Given the description of an element on the screen output the (x, y) to click on. 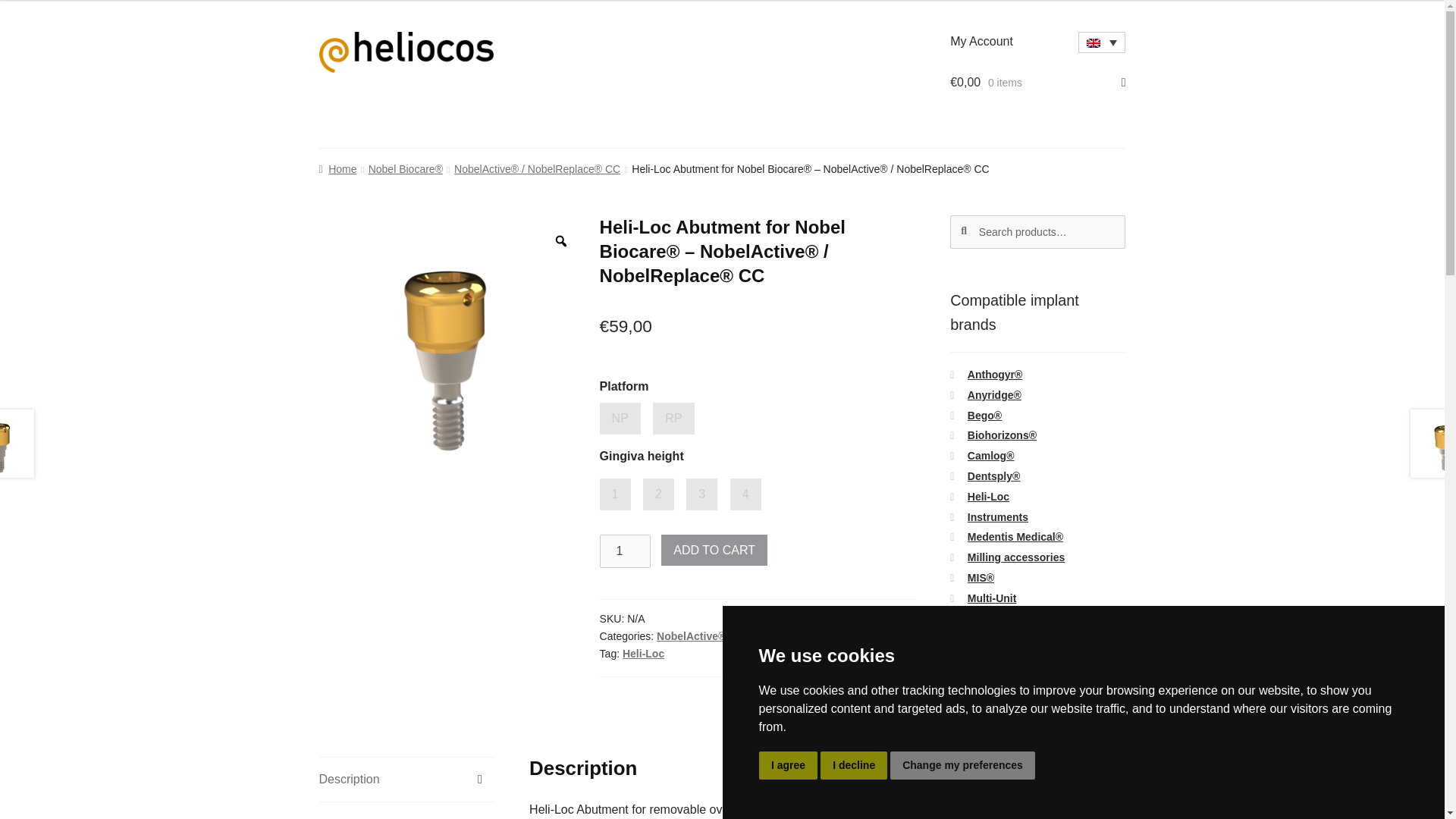
View your shopping cart (1037, 82)
Description (406, 779)
Heli-Loc (643, 653)
Zoom (561, 240)
Heli-Loc (858, 635)
ADD TO CART (714, 550)
I agree (787, 765)
Additional information (406, 810)
Home (337, 168)
1 (624, 551)
Change my preferences (962, 765)
My Account (981, 41)
26.185.35.020 (453, 349)
I decline (853, 765)
